Given the description of an element on the screen output the (x, y) to click on. 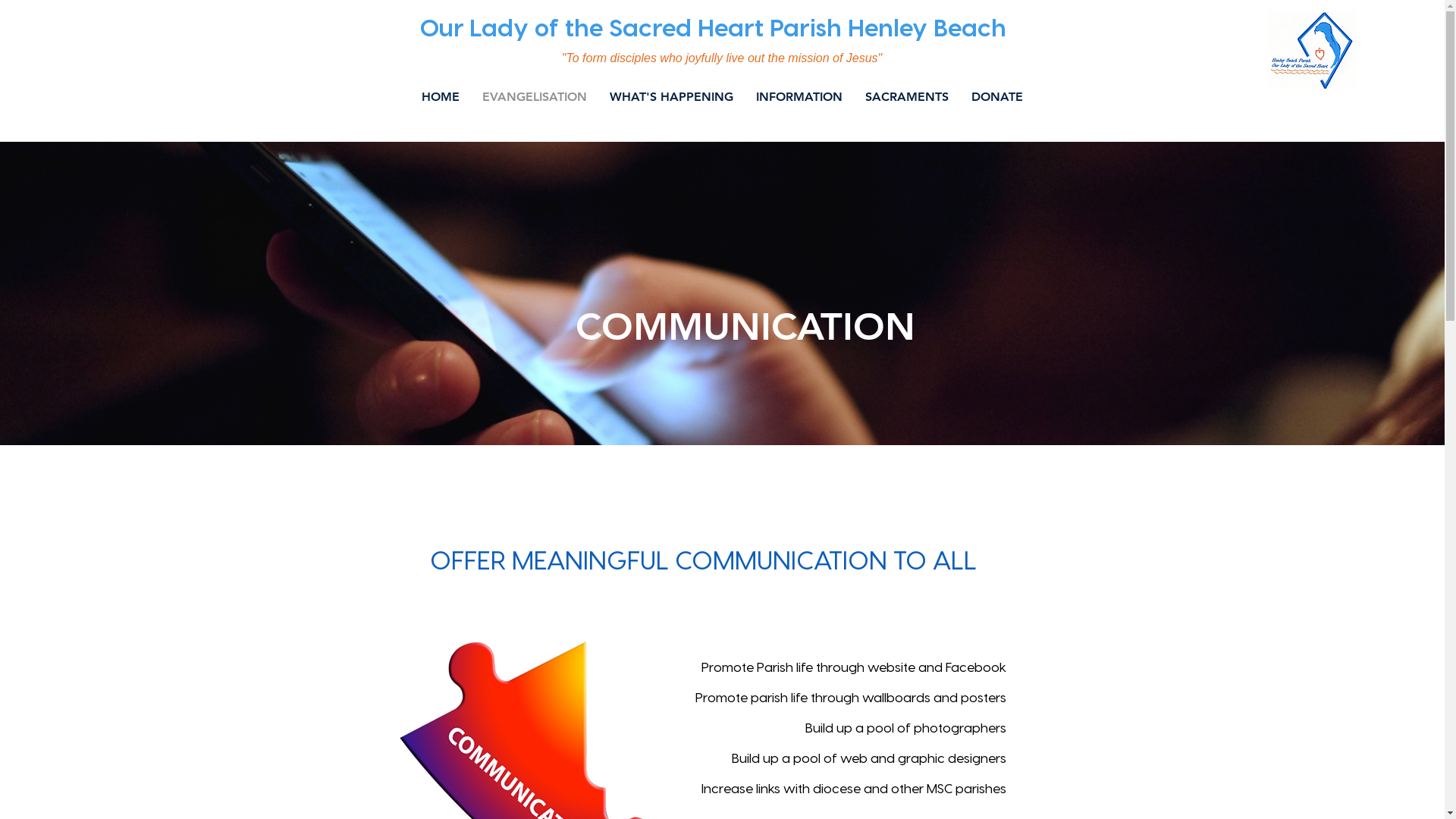
Henley Beach  Element type: text (929, 26)
DONATE Element type: text (997, 96)
Parish  Element type: text (808, 26)
Our Lady of the Sacred Heart  Element type: text (594, 26)
HOME Element type: text (440, 96)
EVANGELISATION Element type: text (534, 96)
SACRAMENTS Element type: text (906, 96)
WHAT'S HAPPENING Element type: text (671, 96)
